Given the description of an element on the screen output the (x, y) to click on. 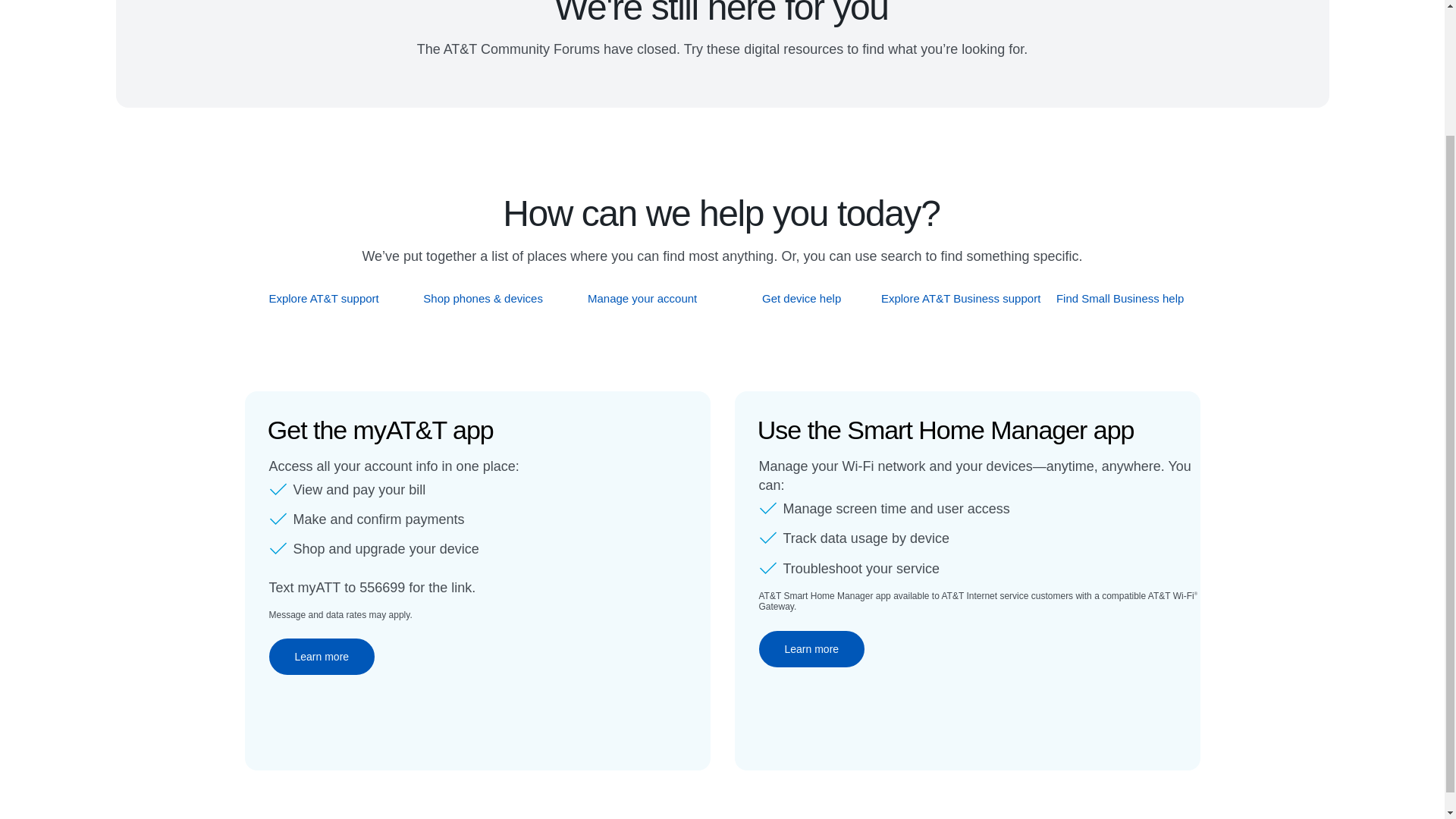
Find Small Business help (1121, 298)
Get device help (801, 298)
Manage your account (642, 298)
Learn more (320, 656)
Learn more (811, 648)
